Given the description of an element on the screen output the (x, y) to click on. 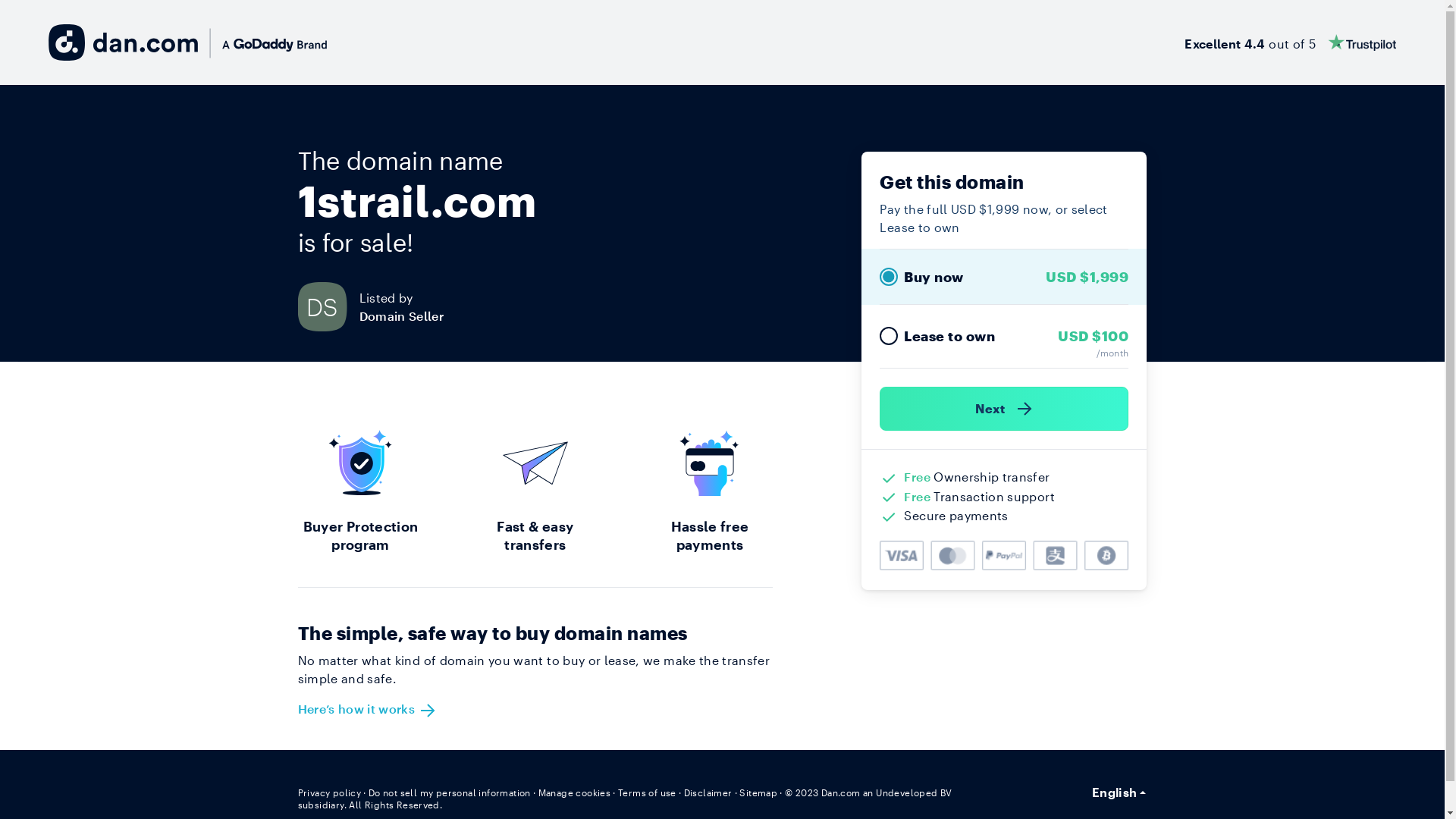
Sitemap Element type: text (758, 792)
Next
) Element type: text (1003, 408)
Excellent 4.4 out of 5 Element type: text (1290, 42)
Manage cookies Element type: text (574, 792)
English Element type: text (1119, 792)
Disclaimer Element type: text (708, 792)
Terms of use Element type: text (647, 792)
Privacy policy Element type: text (328, 792)
Do not sell my personal information Element type: text (449, 792)
